Given the description of an element on the screen output the (x, y) to click on. 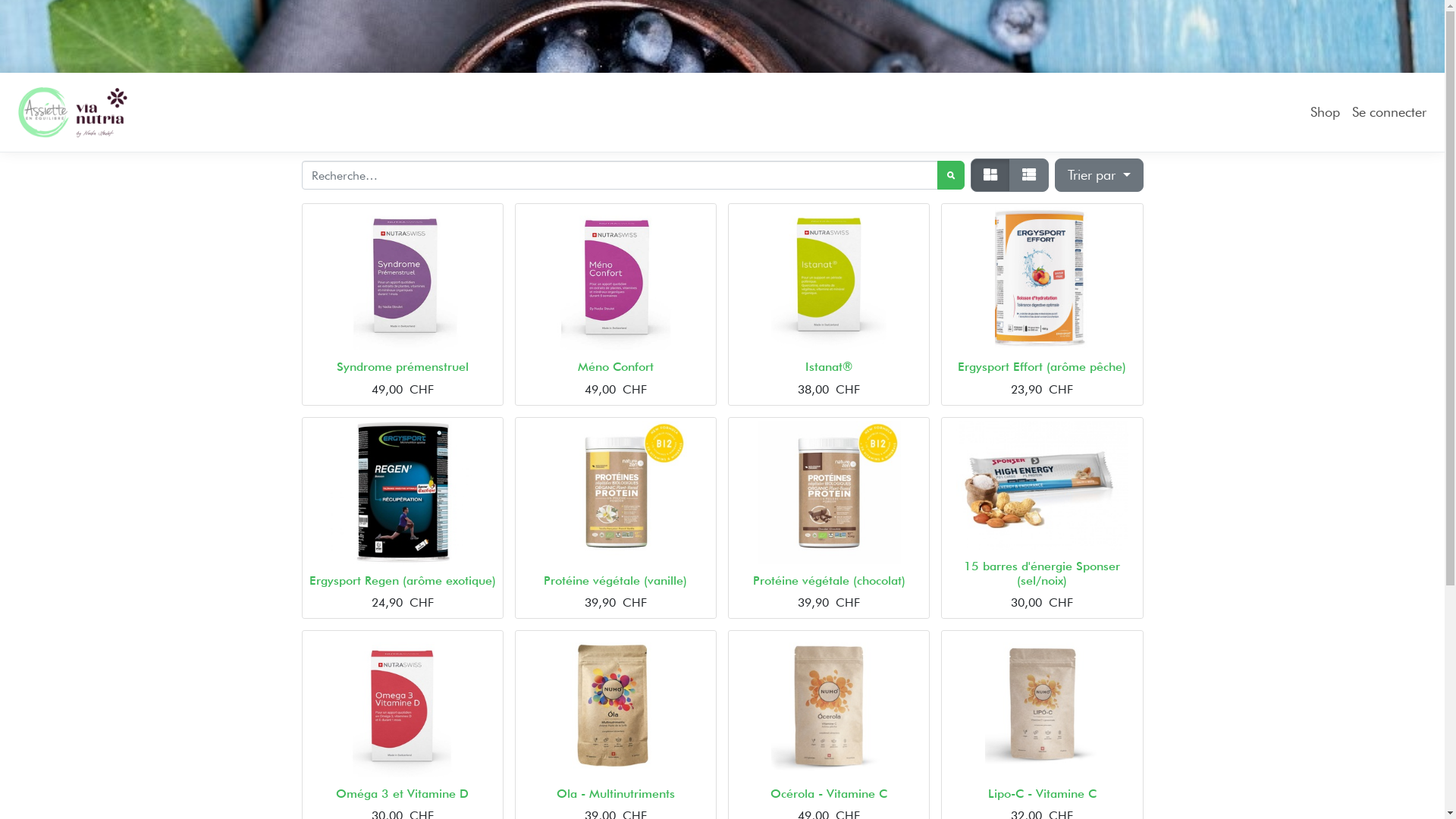
Se connecter Element type: text (1389, 112)
Tarifs Element type: hover (990, 174)
Trier par Element type: text (1098, 174)
Liste Element type: hover (1028, 174)
Rechercher Element type: hover (950, 174)
Ola - Multinutriments Element type: text (615, 793)
Lipo-C - Vitamine C Element type: text (1042, 793)
Shop Element type: text (1325, 112)
